Given the description of an element on the screen output the (x, y) to click on. 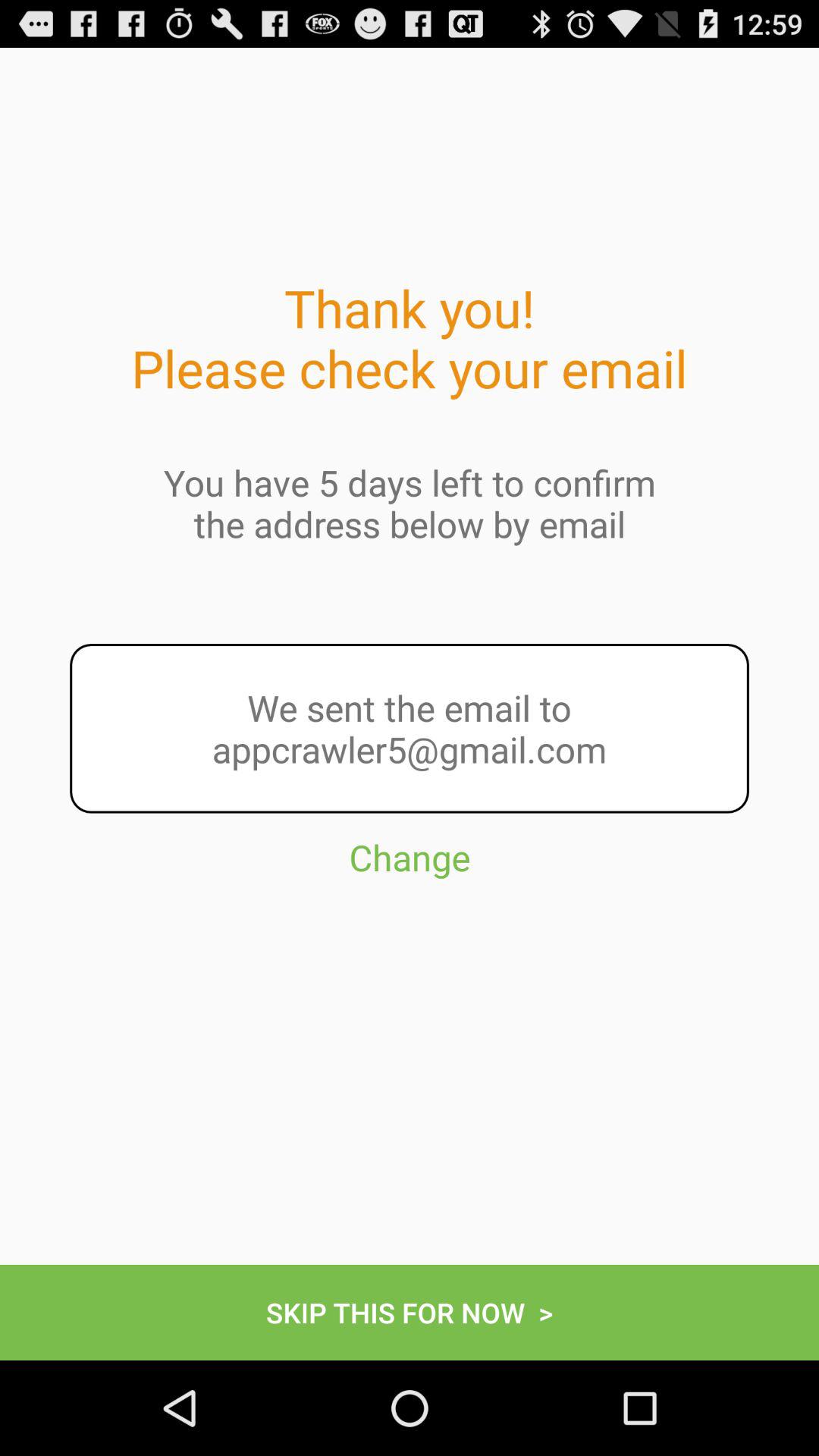
swipe to the change item (409, 926)
